Given the description of an element on the screen output the (x, y) to click on. 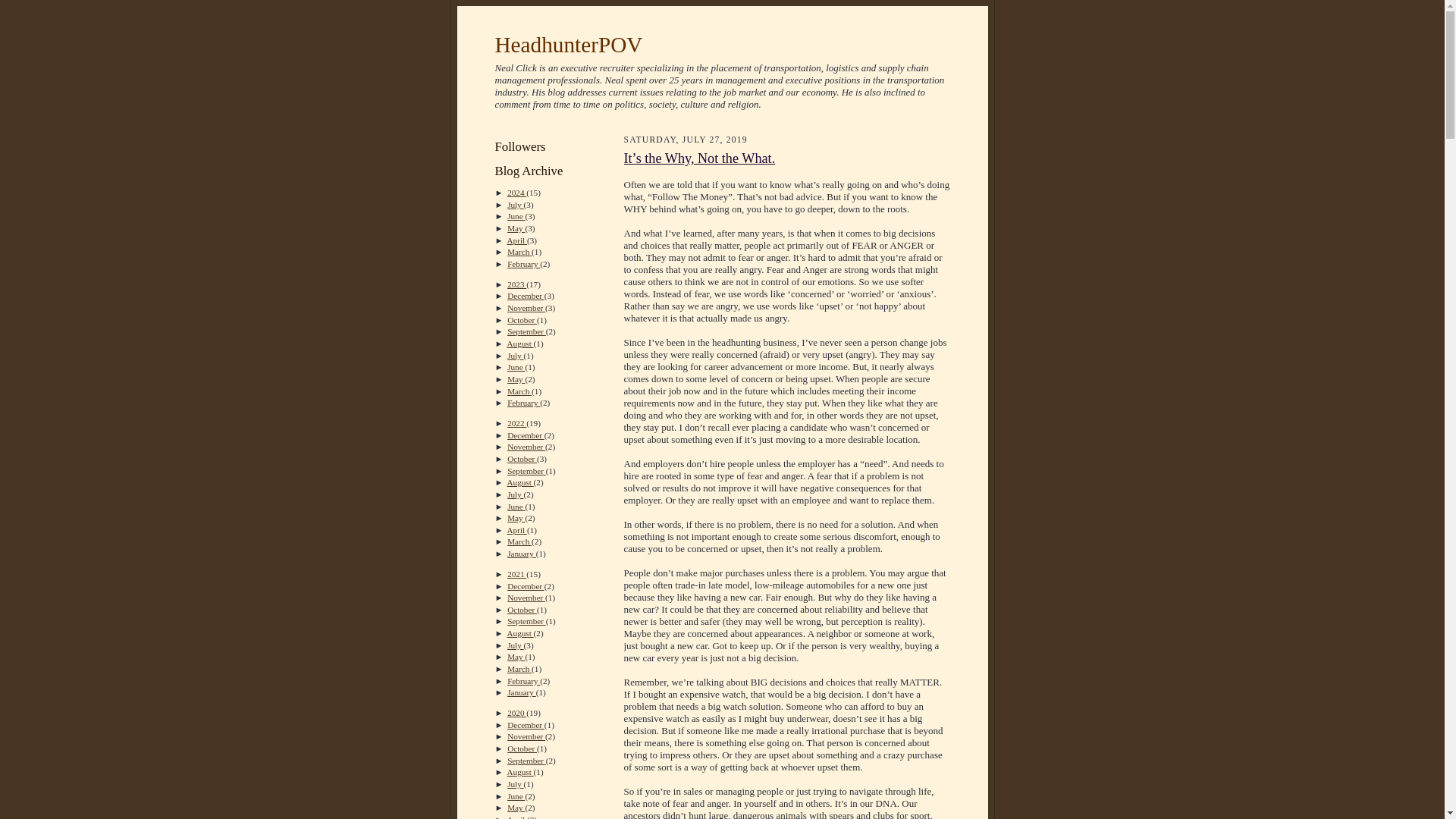
July (514, 355)
October (521, 319)
2023 (515, 284)
June (515, 366)
2022 (515, 422)
HeadhunterPOV (568, 44)
November (525, 307)
May (515, 227)
August (520, 343)
April (516, 239)
September (526, 330)
July (514, 204)
May (515, 379)
June (515, 215)
2024 (515, 192)
